Given the description of an element on the screen output the (x, y) to click on. 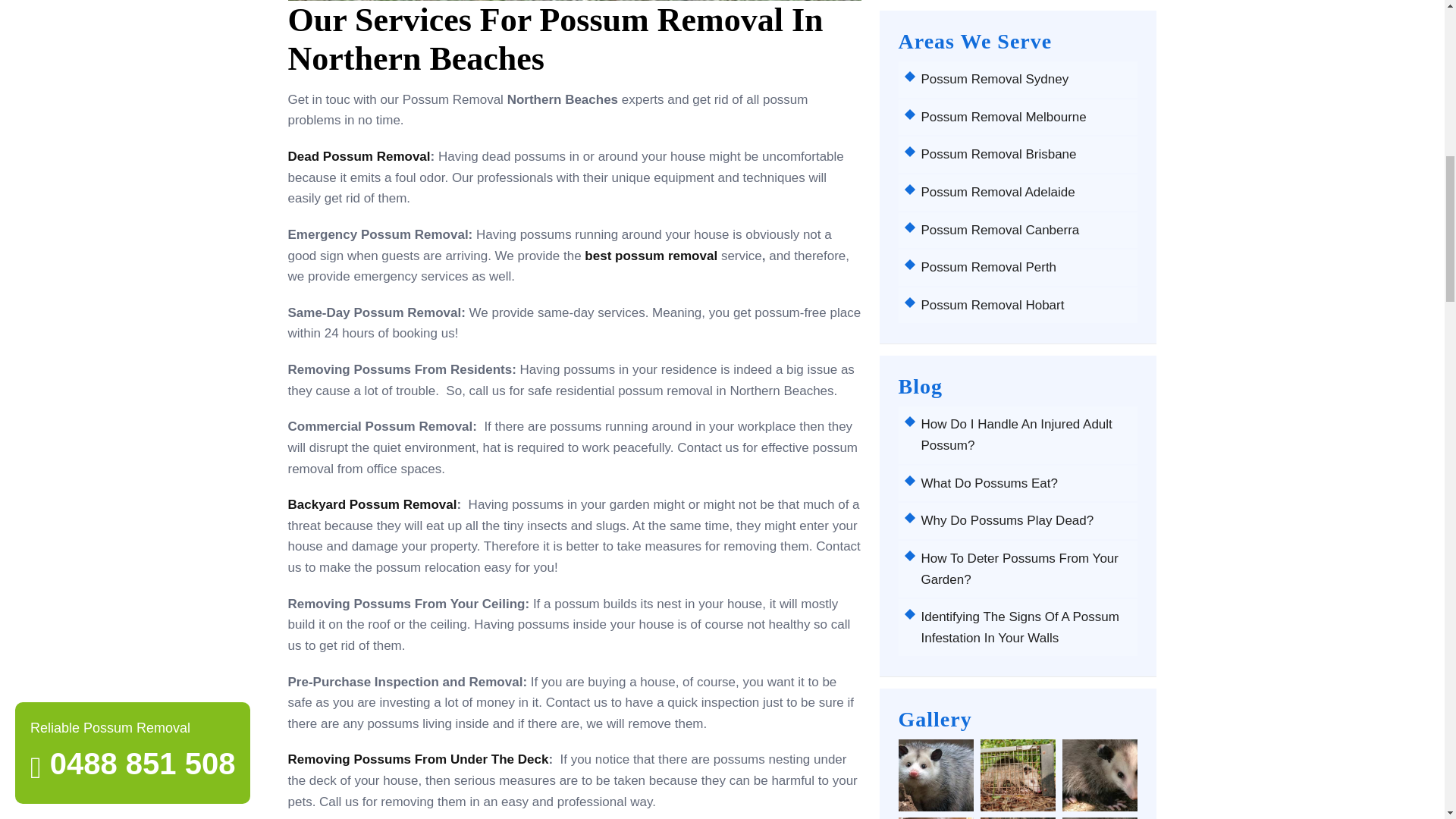
Removing Possums From Under The Deck (418, 759)
best possum removal (651, 255)
Backyard Possum Removal (372, 504)
Dead Possum Removal (359, 156)
